Given the description of an element on the screen output the (x, y) to click on. 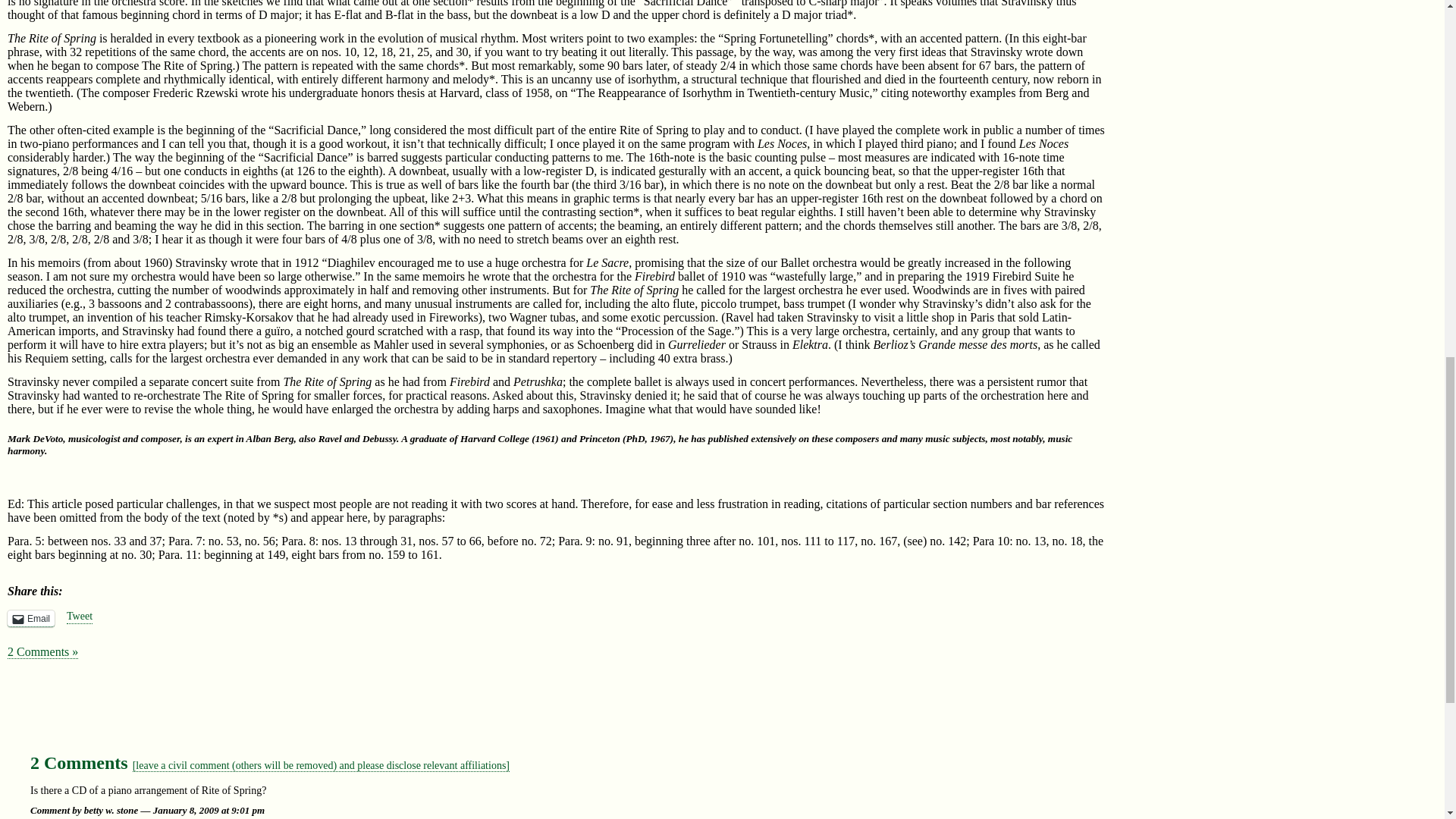
Leave a comment (320, 766)
Tweet (79, 617)
Click to email a link to a friend (31, 618)
Email (31, 618)
